Given the description of an element on the screen output the (x, y) to click on. 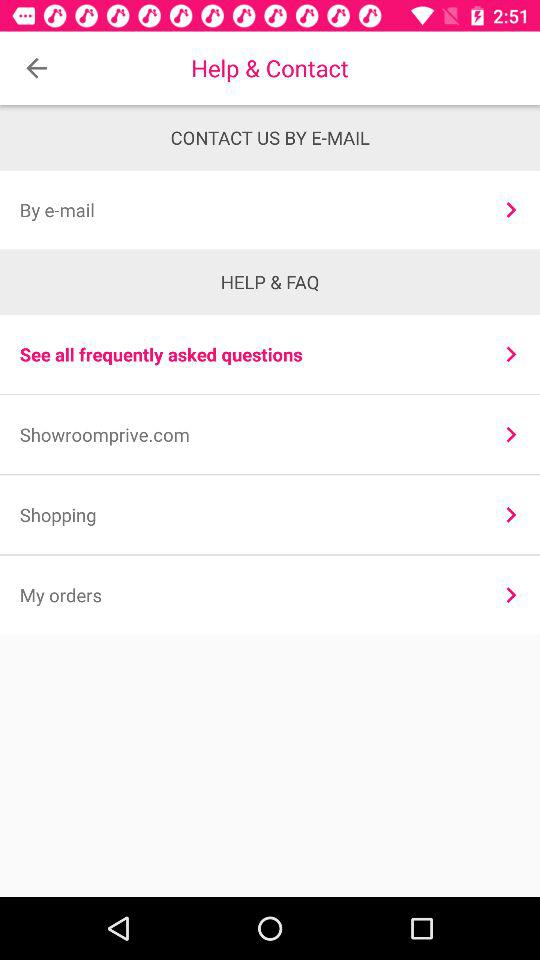
turn off icon above the shopping item (510, 434)
